Given the description of an element on the screen output the (x, y) to click on. 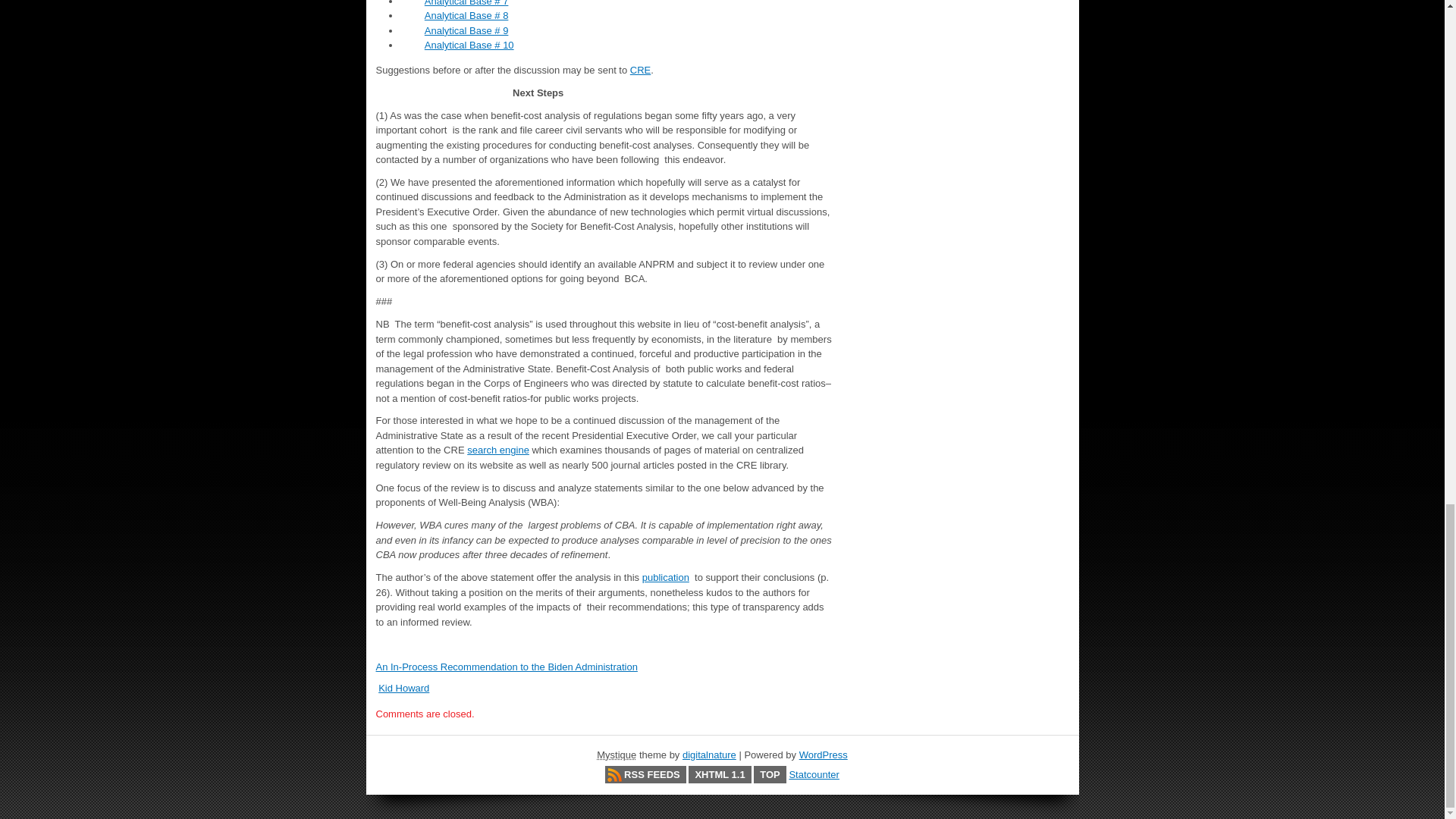
search engine (498, 449)
WordPress (823, 754)
RSS Feeds (645, 773)
RSS FEEDS (645, 773)
publication (665, 577)
An In-Process Recommendation to the Biden Administration (506, 666)
Mystique 2.4.2 (616, 754)
CRE (640, 70)
Kid Howard (403, 687)
